Given the description of an element on the screen output the (x, y) to click on. 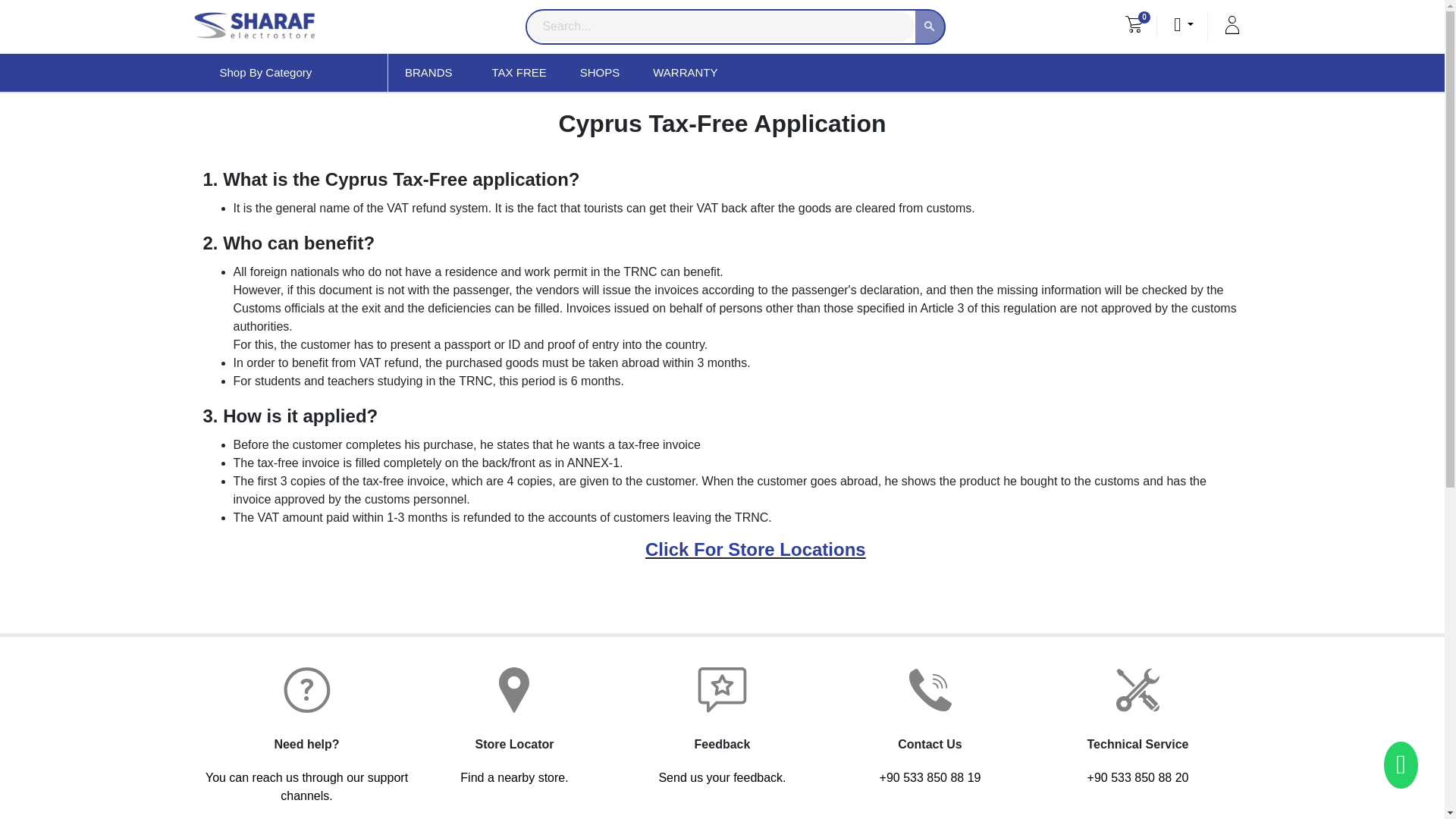
Search (929, 26)
BRANDS (432, 72)
WARRANTY (684, 72)
TAX FREE (518, 72)
SHOPS (600, 72)
Shop By Category (295, 72)
Sharaf Electro Store (253, 26)
